Given the description of an element on the screen output the (x, y) to click on. 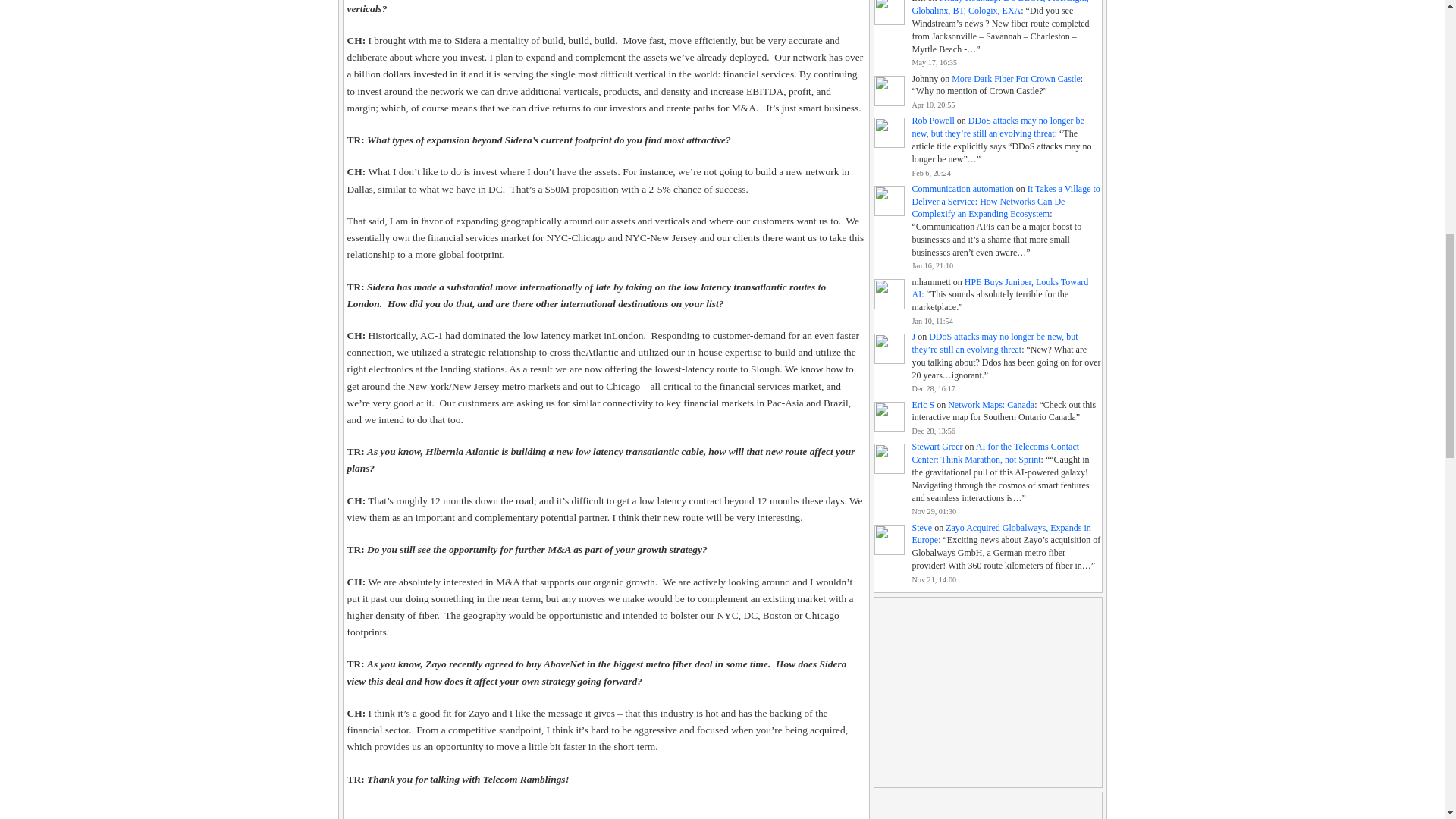
3rd party ad content (986, 805)
3rd party ad content (986, 692)
